Given the description of an element on the screen output the (x, y) to click on. 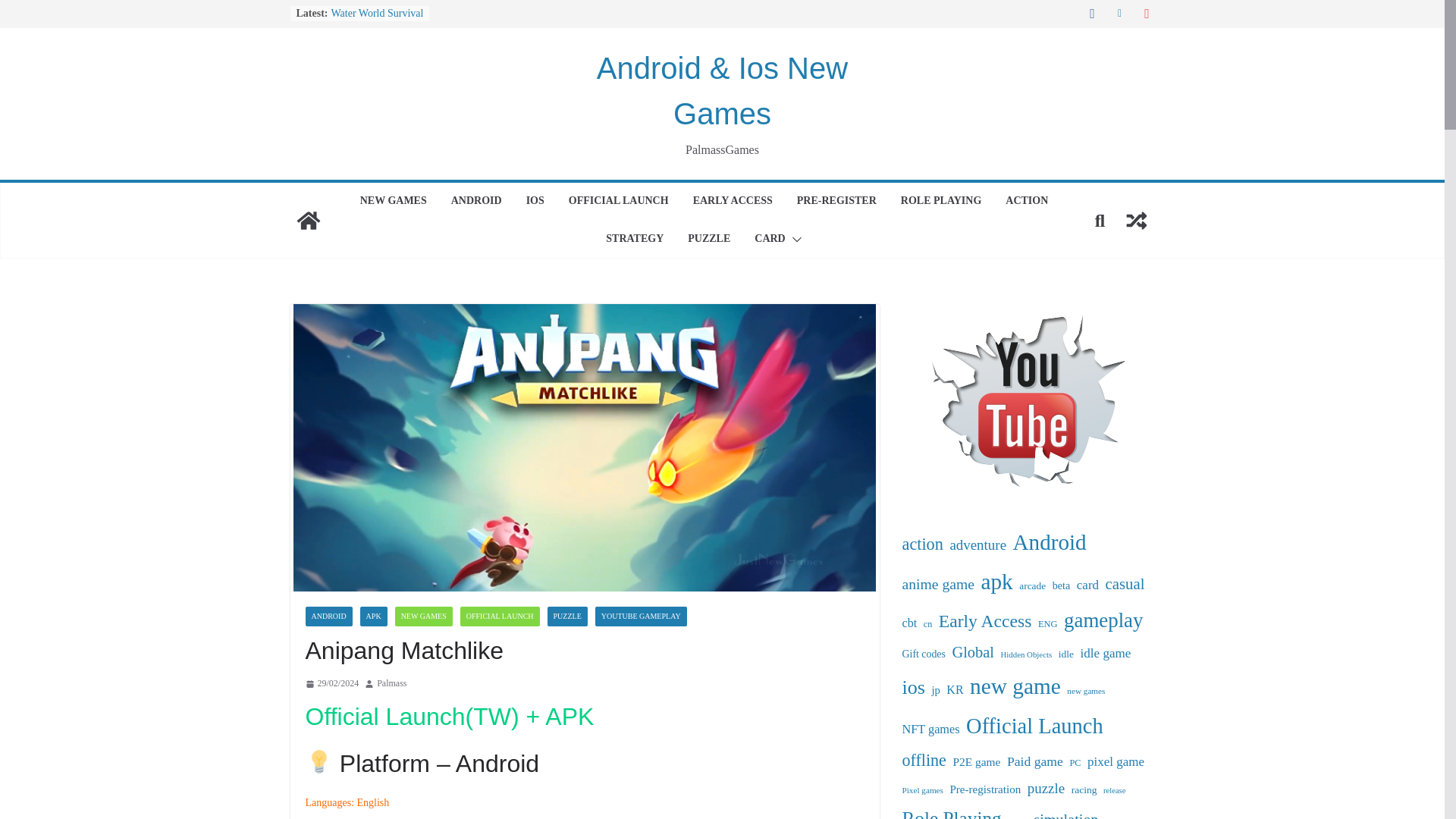
EARLY ACCESS (733, 201)
View a random post (1136, 220)
Water World Survival (376, 12)
09:53 (331, 683)
Water World Survival (376, 12)
ACTION (1027, 201)
PRE-REGISTER (836, 201)
ANDROID (476, 201)
OFFICIAL LAUNCH (618, 201)
ROLE PLAYING (941, 201)
PUZZLE (708, 239)
CARD (769, 239)
NEW GAMES (392, 201)
Palmass (391, 683)
STRATEGY (634, 239)
